Given the description of an element on the screen output the (x, y) to click on. 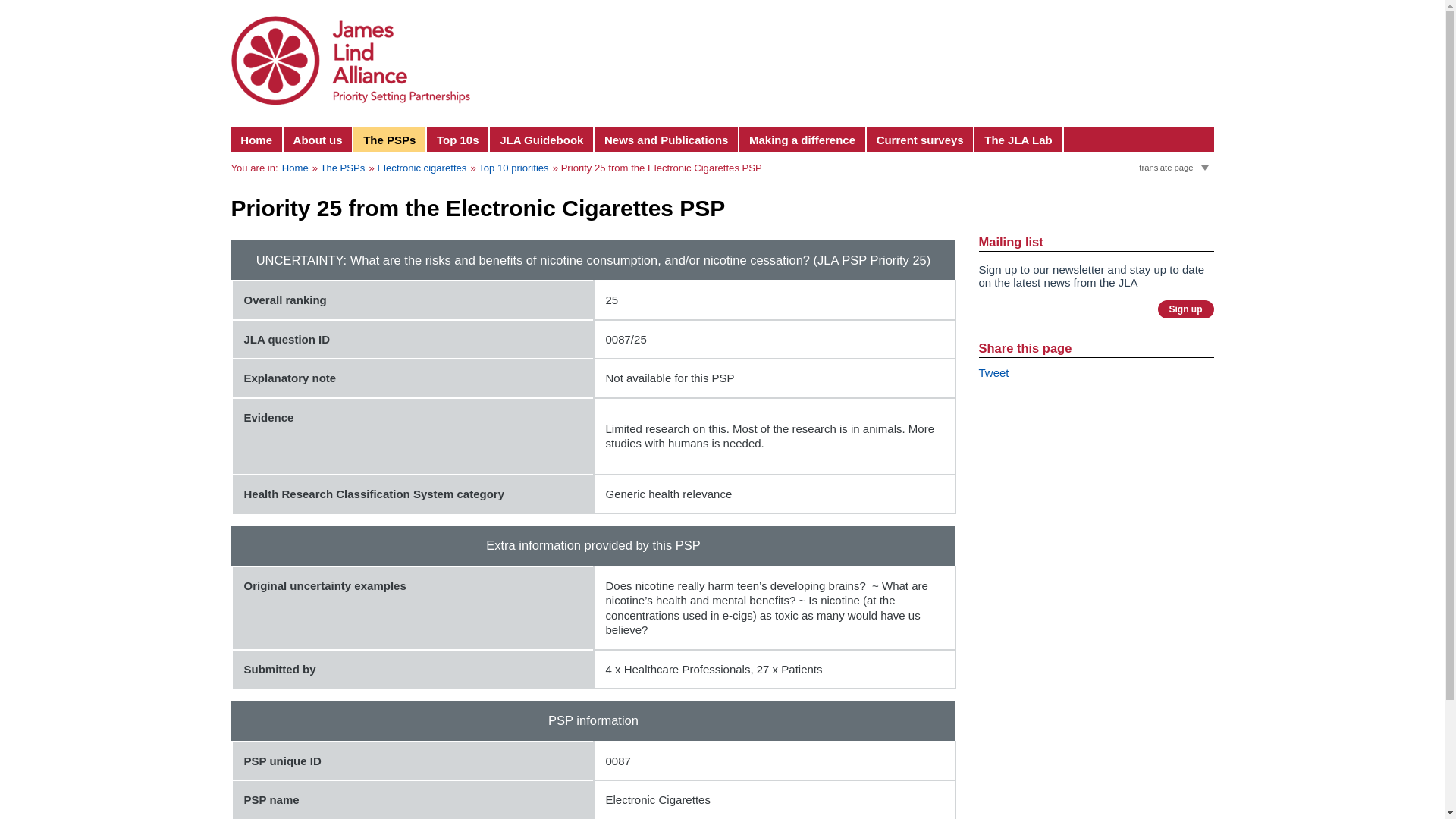
Top 10s (457, 139)
JLA Guidebook - AccessKey:F (541, 139)
Current surveys (920, 139)
The JLA Lab (1018, 139)
The PSPs (389, 139)
Current surveys - AccessKey:I (920, 139)
News and Publications (666, 139)
on (1142, 163)
About us (318, 139)
About us - AccessKey:B (318, 139)
